Given the description of an element on the screen output the (x, y) to click on. 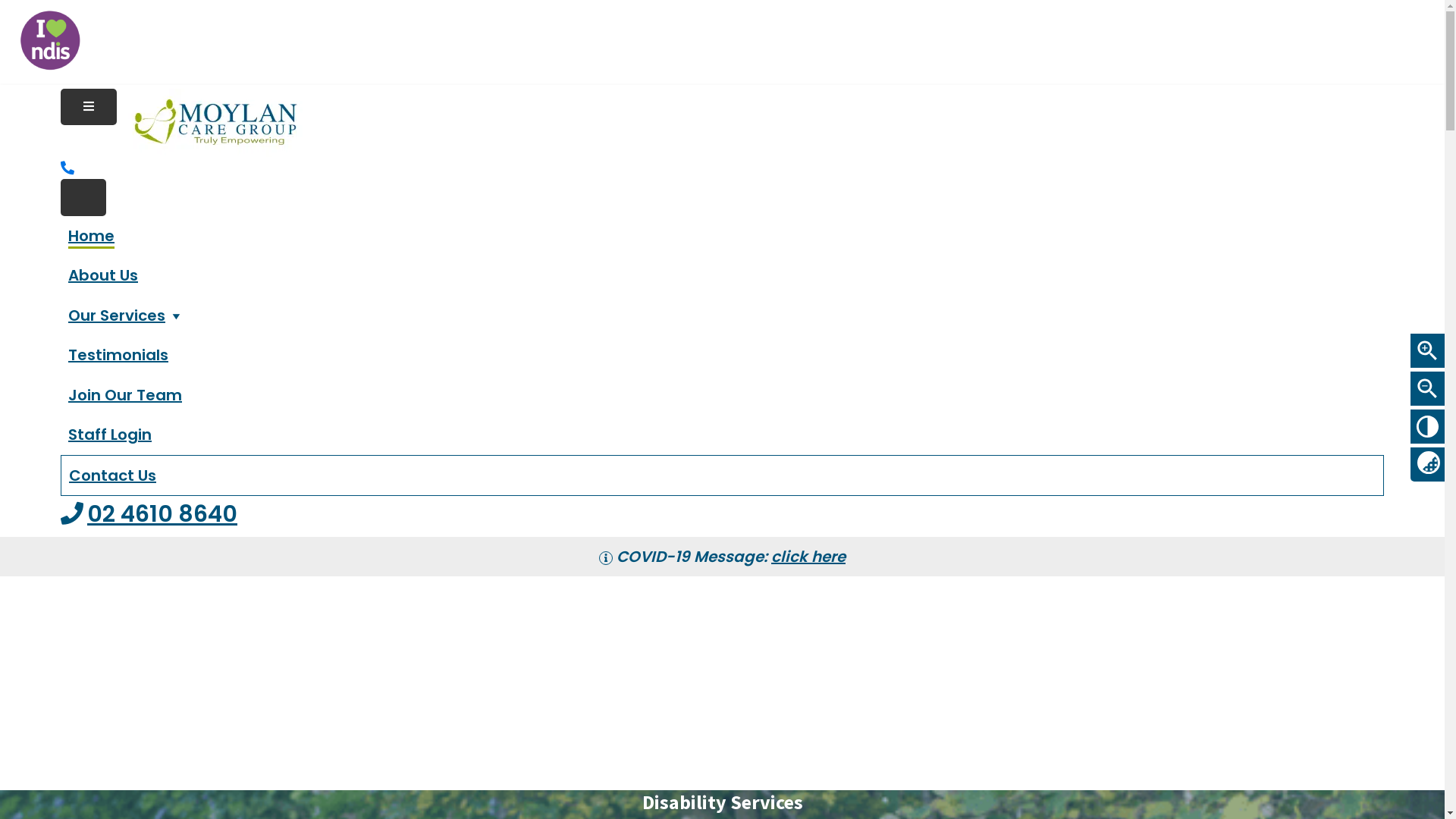
Disability Services Element type: text (721, 801)
Contact Us Element type: text (112, 475)
Staff Login Element type: text (109, 434)
02 4610 8640 Element type: text (148, 514)
Toggle Greyscale Element type: hover (1427, 462)
Testimonials Element type: text (118, 354)
registered NDIS provider Element type: hover (49, 39)
Home Element type: text (91, 236)
Decrease Font Size Element type: hover (1427, 388)
Moylan Care Group Element type: hover (215, 105)
About Us Element type: text (103, 274)
Our Services Element type: text (125, 315)
Toggle Contrast Element type: hover (1427, 426)
Skip to primary navigation Element type: text (0, 84)
click here Element type: text (808, 556)
Increase Font Size Element type: hover (1427, 350)
Join Our Team Element type: text (125, 394)
